Given the description of an element on the screen output the (x, y) to click on. 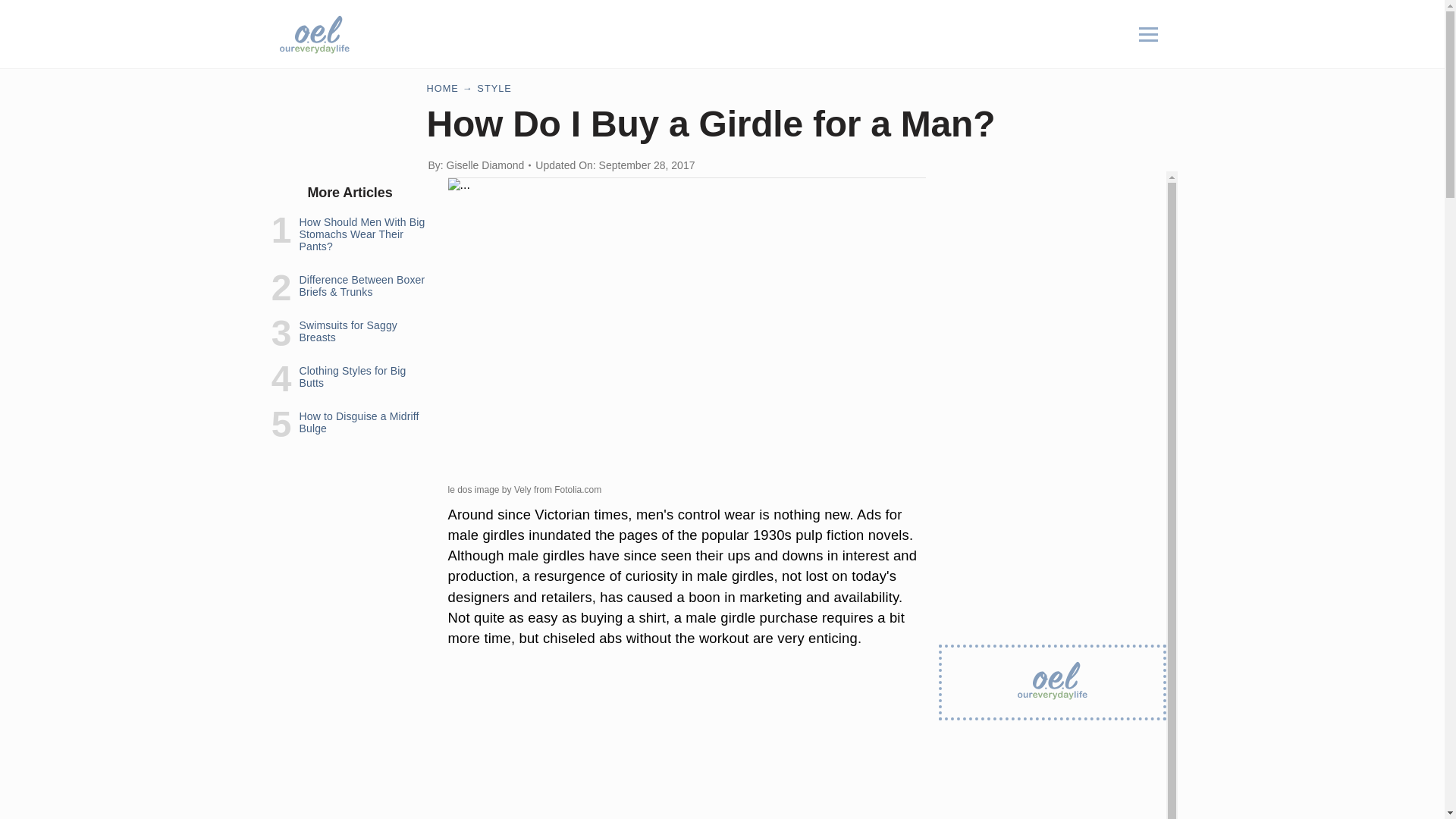
HOME (442, 88)
How Should Men With Big Stomachs Wear Their Pants? (361, 234)
STYLE (494, 88)
Swimsuits for Saggy Breasts (347, 331)
Fotolia.com (577, 489)
How to Disguise a Midriff Bulge (358, 422)
Clothing Styles for Big Butts (352, 376)
